Given the description of an element on the screen output the (x, y) to click on. 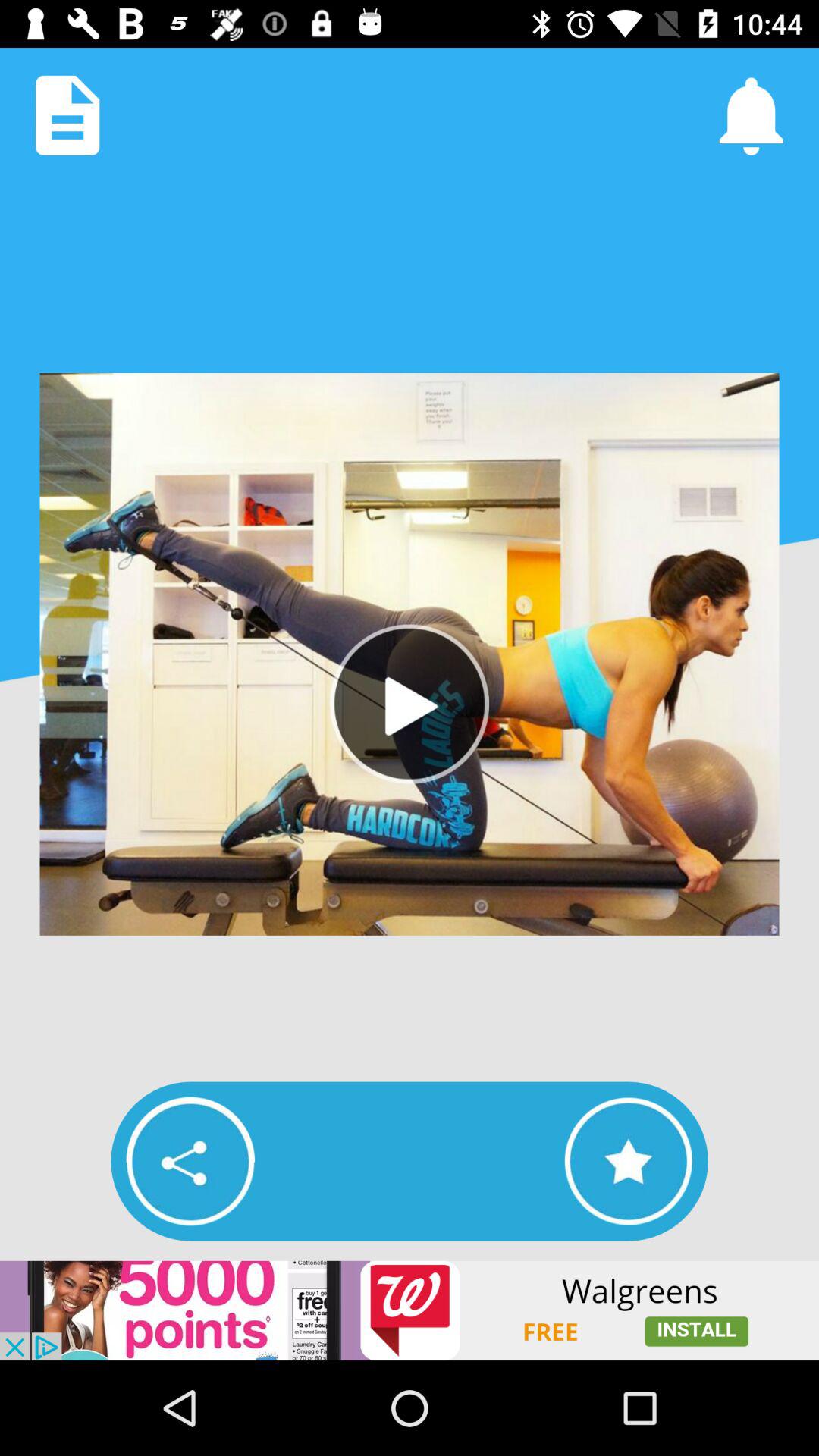
enable notifications (751, 115)
